Given the description of an element on the screen output the (x, y) to click on. 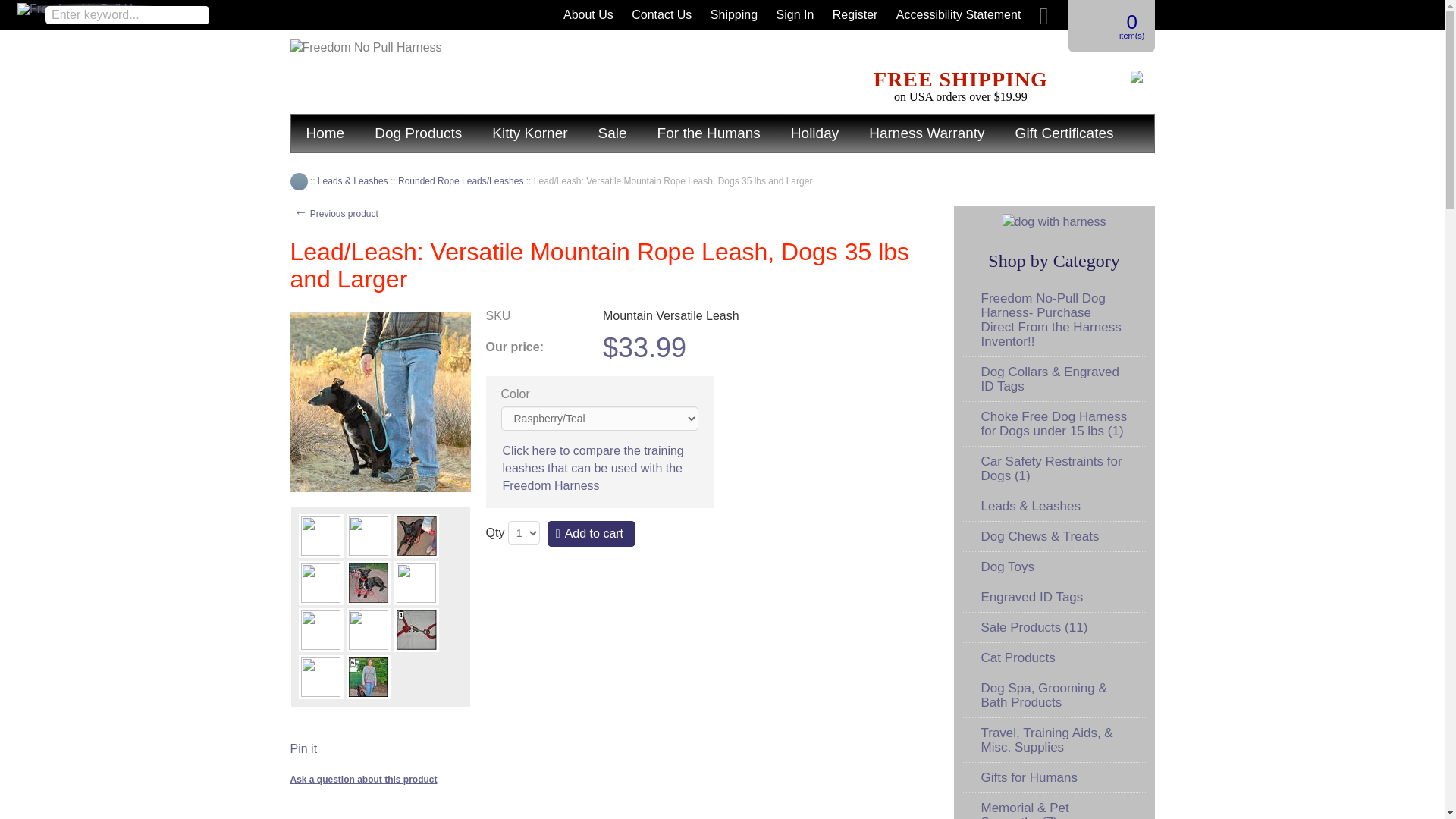
Home (325, 133)
Harness Warranty (925, 133)
Home (298, 181)
Kitty Korner (529, 133)
For the Humans (709, 133)
Sale (612, 133)
Dog Products (418, 133)
Holiday (814, 133)
Gift Certificates (1064, 133)
